Given the description of an element on the screen output the (x, y) to click on. 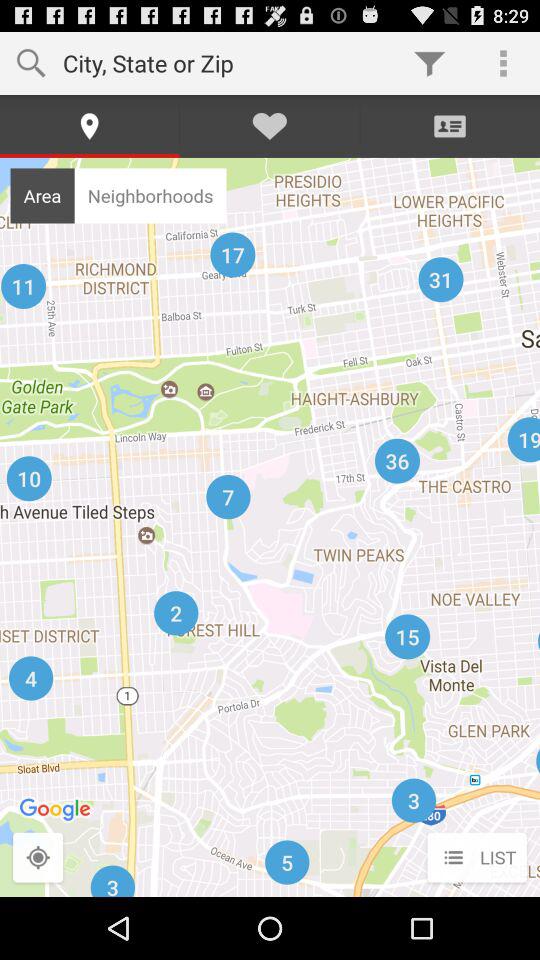
select the item to the right of the city state or app (429, 62)
